Given the description of an element on the screen output the (x, y) to click on. 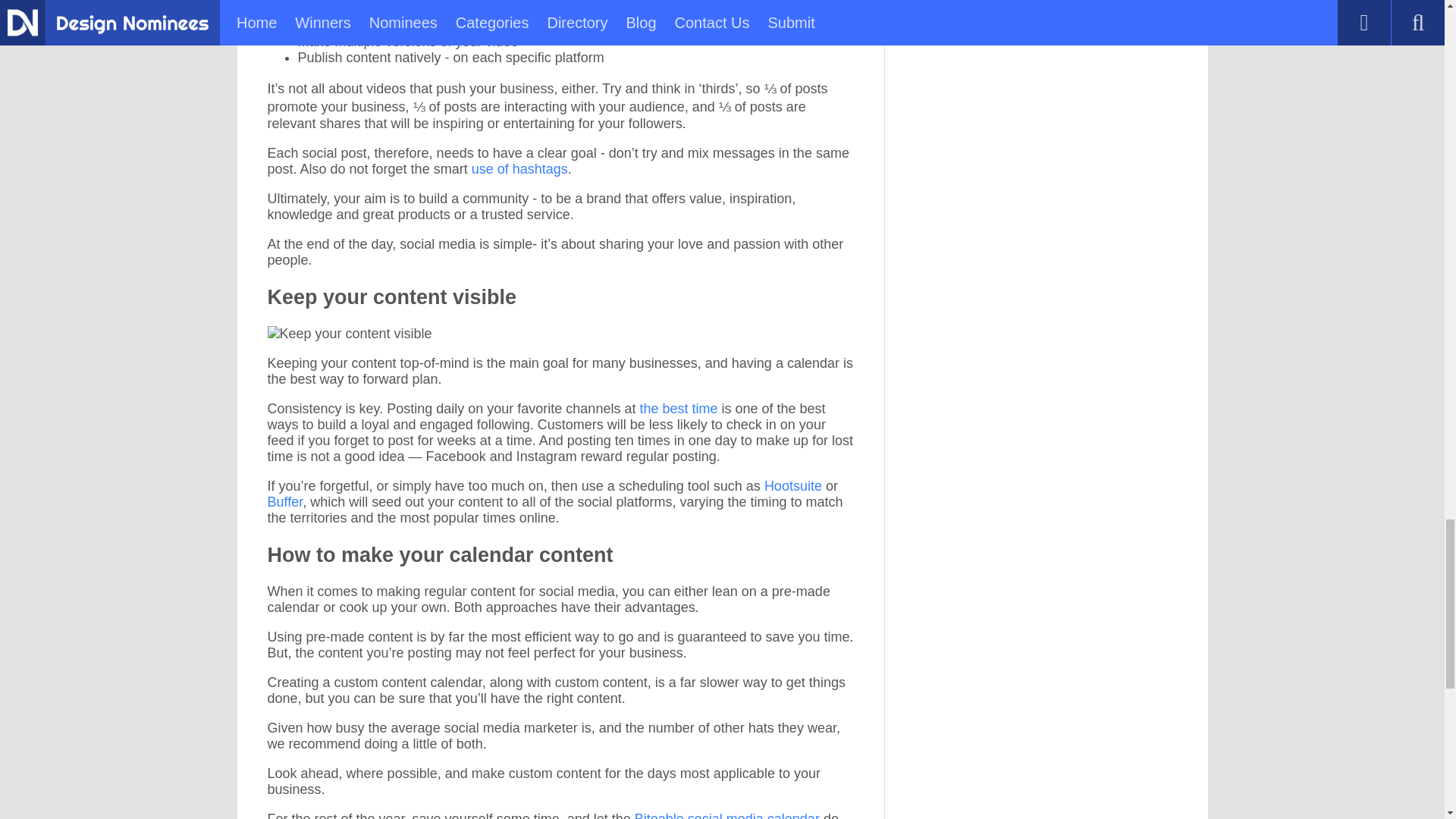
Buffer (284, 501)
use of hashtags (519, 168)
the best time (678, 408)
Hootsuite (794, 485)
